Given the description of an element on the screen output the (x, y) to click on. 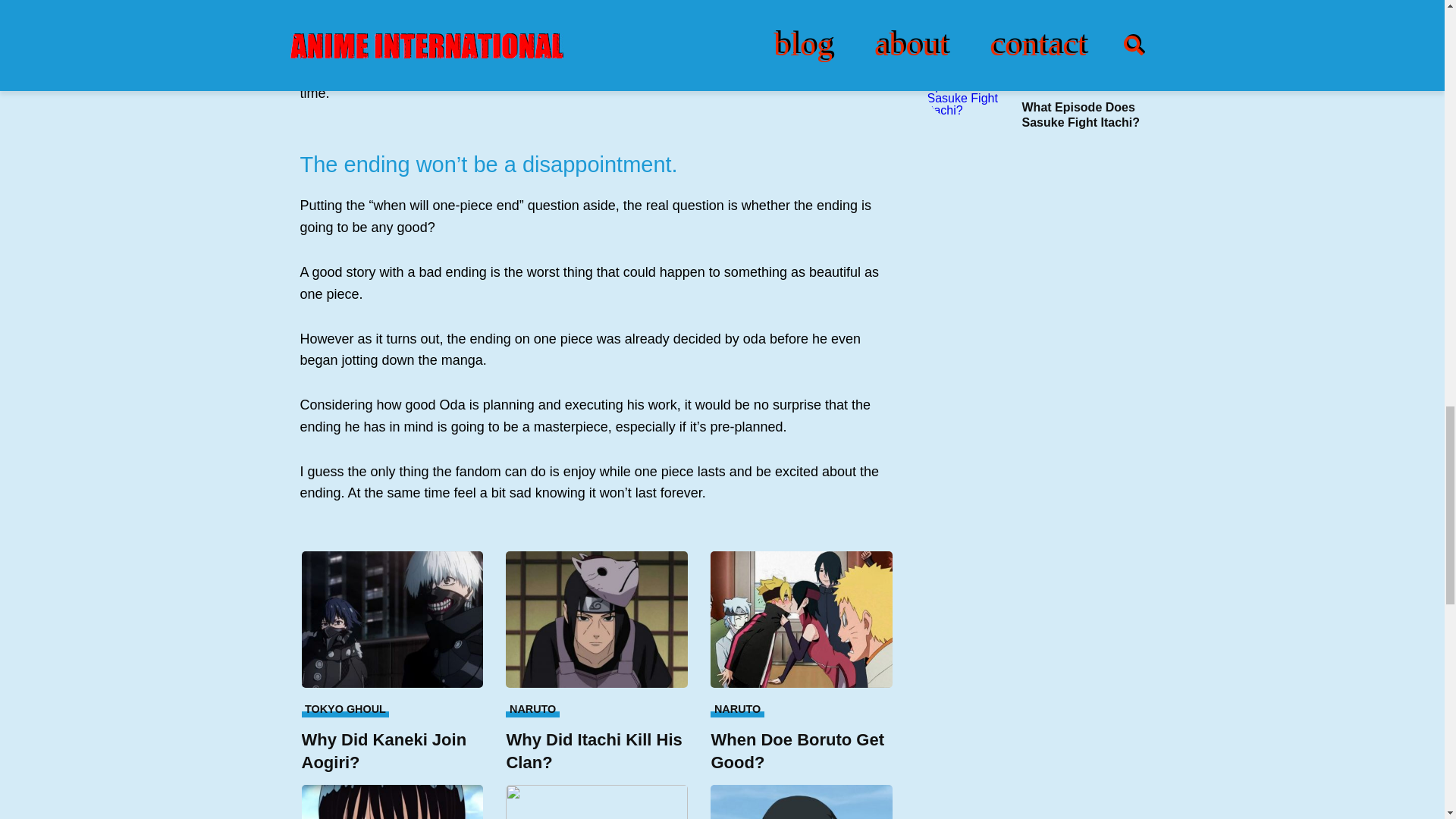
How Did Danzo Get The Sharingan? (596, 801)
NARUTO (736, 707)
When Doe Boruto Get Good? (801, 751)
Why Did Itachi Kill His Clan? (596, 619)
TOKYO GHOUL (345, 707)
When Doe Boruto Get Good? (801, 619)
Why Did Itachi Kill His Clan? (596, 751)
Why Did Kaneki Join Aogiri? (392, 619)
Why Did Kaneki Join Aogiri? (392, 751)
How old is Nico Robin? (392, 801)
